Given the description of an element on the screen output the (x, y) to click on. 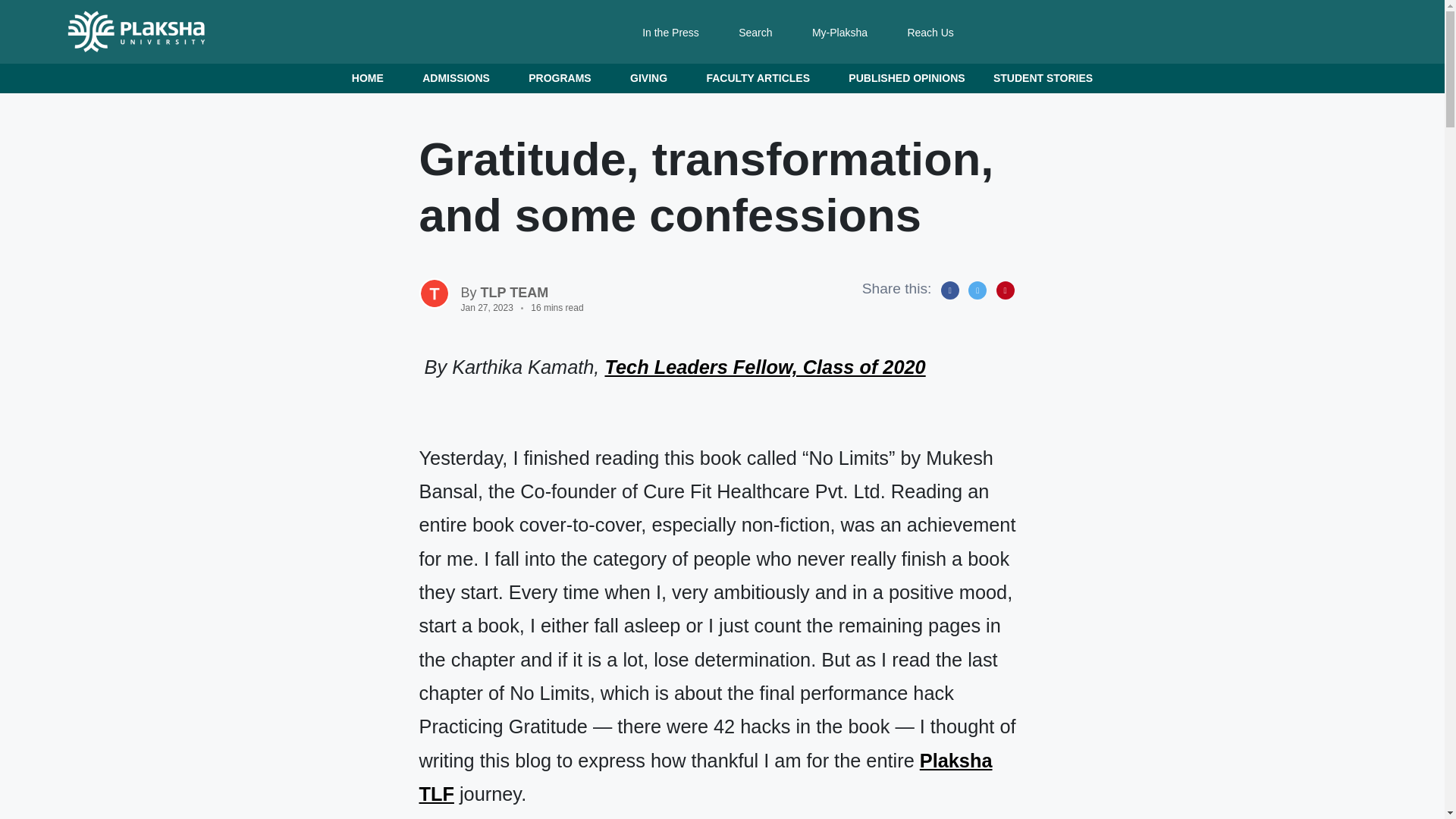
In the Press (670, 32)
Reach Us (930, 32)
PROGRAMS (564, 78)
FACULTY ARTICLES (763, 78)
My-Plaksha (839, 32)
Search (754, 32)
PUBLISHED OPINIONS (905, 78)
ADMISSIONS (461, 78)
GIVING (653, 78)
STUDENT STORIES (1043, 78)
HOME (372, 78)
